Given the description of an element on the screen output the (x, y) to click on. 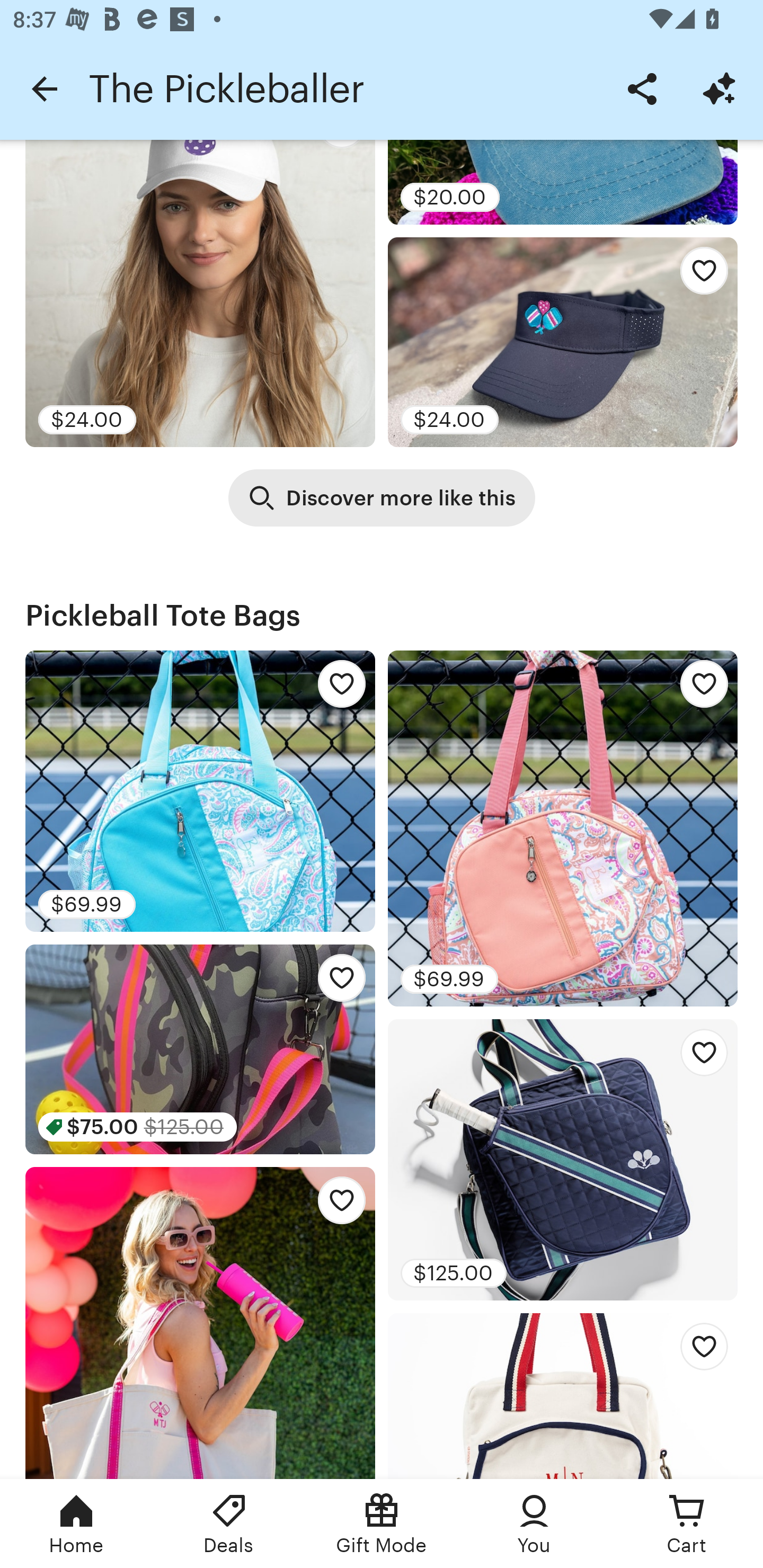
Back (44, 88)
$24.00 (200, 292)
$20.00 (562, 181)
$24.00 (562, 341)
Discover more like this (381, 497)
$69.99 (200, 790)
$69.99 (562, 828)
Sale price: $75.00 $75.00 $125.00 (200, 1048)
$125.00 (562, 1159)
Deals (228, 1523)
Gift Mode (381, 1523)
You (533, 1523)
Cart (686, 1523)
